Given the description of an element on the screen output the (x, y) to click on. 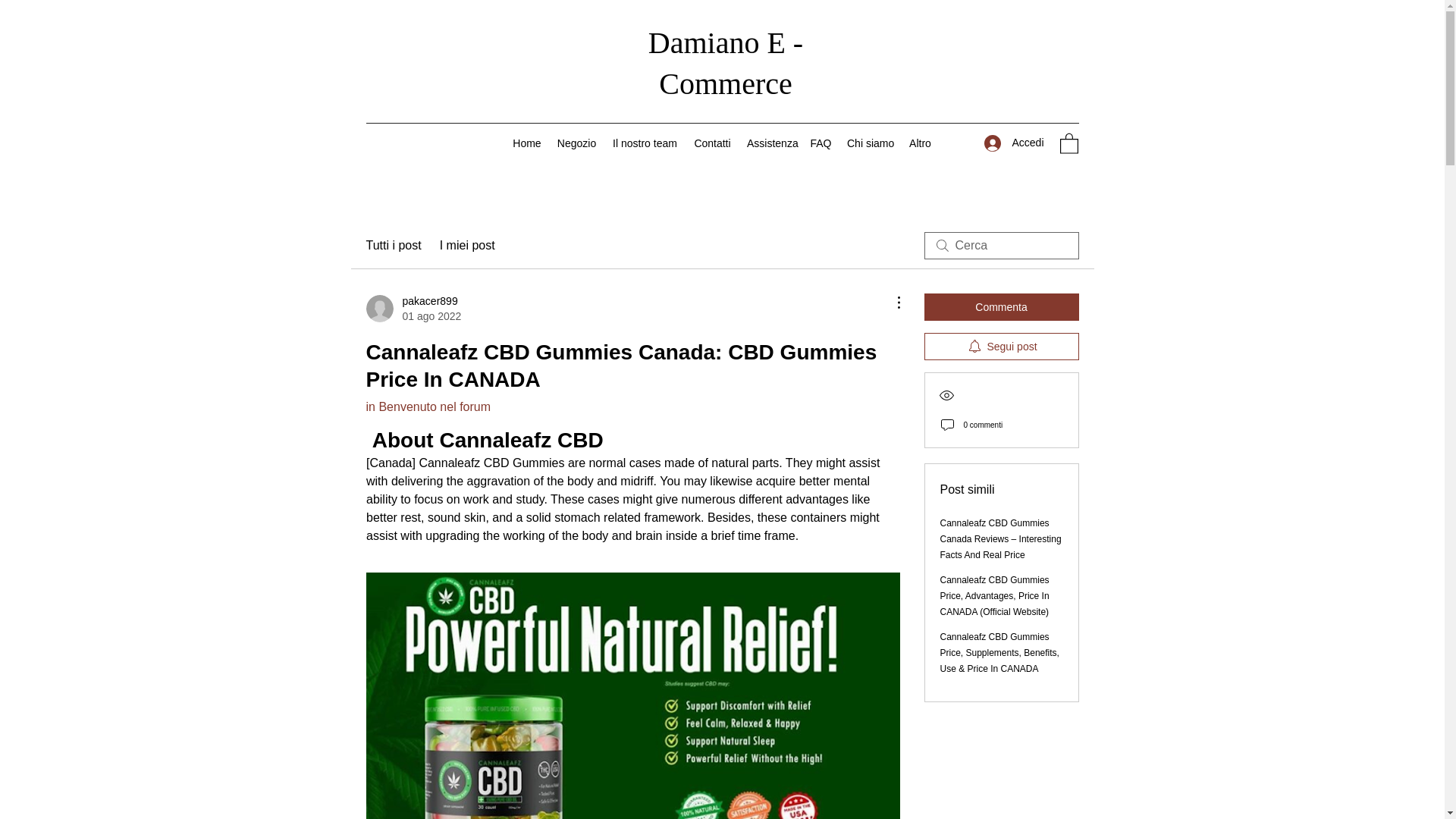
Negozio (576, 142)
Tutti i post (392, 245)
Chi siamo (870, 142)
Accedi (1014, 142)
Contatti (712, 142)
Segui post (1000, 346)
Il nostro team (644, 142)
I miei post (467, 245)
FAQ (821, 142)
Damiano E - Commerce (725, 62)
Home (413, 308)
Commenta (526, 142)
in Benvenuto nel forum (1000, 307)
Assistenza (427, 406)
